Given the description of an element on the screen output the (x, y) to click on. 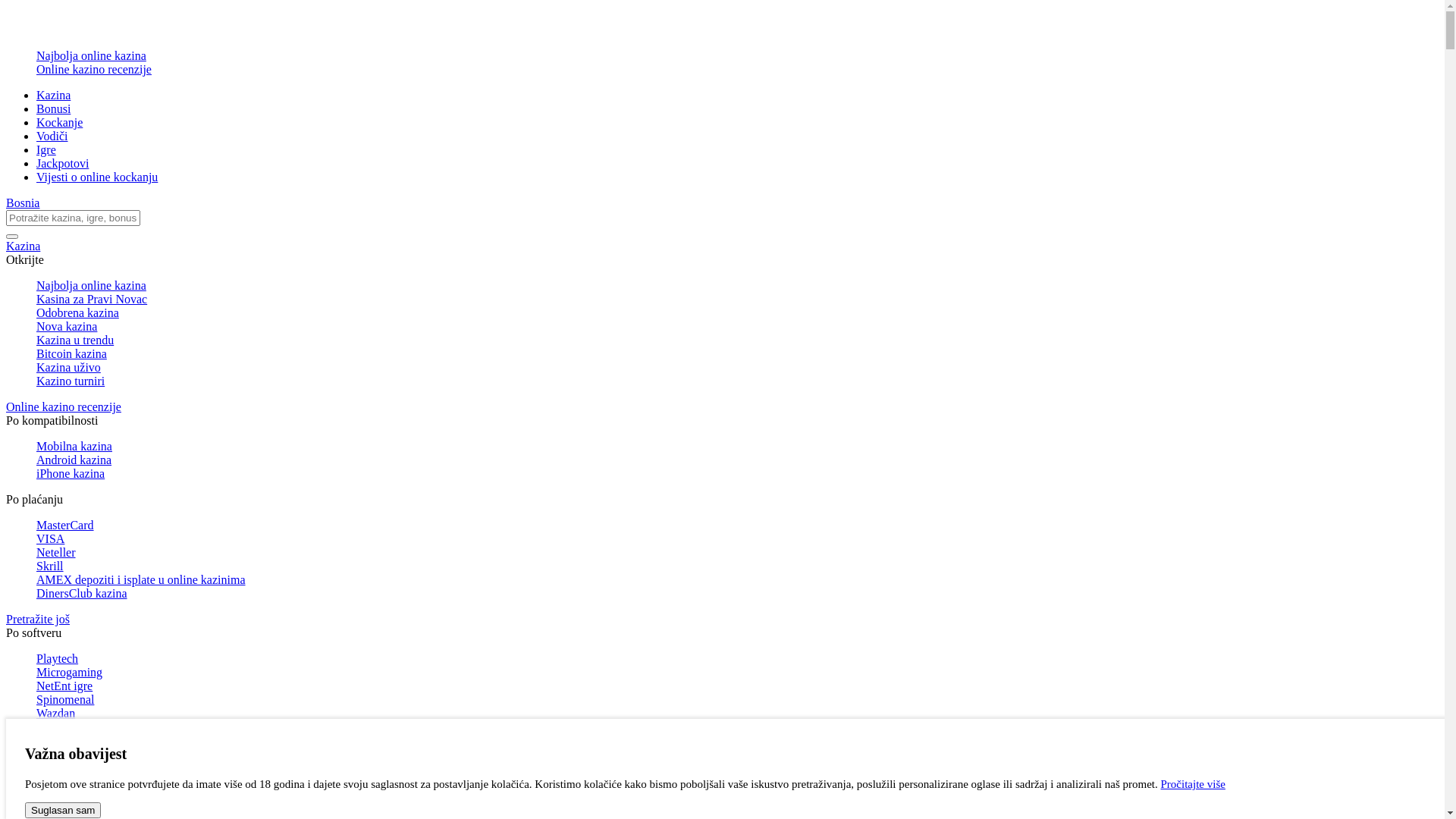
Bonusi Element type: text (53, 108)
Odobrena kazina Element type: text (737, 313)
Vijesti o online kockanju Element type: text (96, 176)
Playtech Element type: text (737, 658)
iPhone kazina Element type: text (737, 473)
Big Time Gaming Element type: text (737, 727)
Spinomenal Element type: text (737, 699)
Kazina u trendu Element type: text (737, 340)
Najbolja online kazina Element type: text (737, 55)
Suglasan sam Element type: text (62, 810)
Jackpotovi Element type: text (62, 162)
Bakara Element type: text (737, 795)
Kasina za Pravi Novac Element type: text (737, 299)
NetEnt igre Element type: text (737, 686)
MasterCard Element type: text (737, 525)
DinersClub kazina Element type: text (737, 593)
AMEX depoziti i isplate u online kazinima Element type: text (737, 579)
Kazino turniri Element type: text (737, 381)
Bitcoin kazina Element type: text (737, 353)
Android kazina Element type: text (737, 460)
Online kazino recenzije Element type: text (737, 69)
Kockanje Element type: text (59, 122)
Mobilna kazina Element type: text (737, 446)
Kazina Element type: text (53, 94)
Nova kazina Element type: text (737, 326)
Wazdan Element type: text (737, 713)
Neteller Element type: text (737, 552)
Najbolja online kazina Element type: text (737, 285)
Skrill Element type: text (737, 566)
VISA Element type: text (737, 539)
Bosnia Element type: text (22, 202)
Microgaming Element type: text (737, 672)
Online kazino recenzije Element type: text (722, 407)
Igre Element type: text (46, 149)
Kazina Element type: text (722, 246)
